Given the description of an element on the screen output the (x, y) to click on. 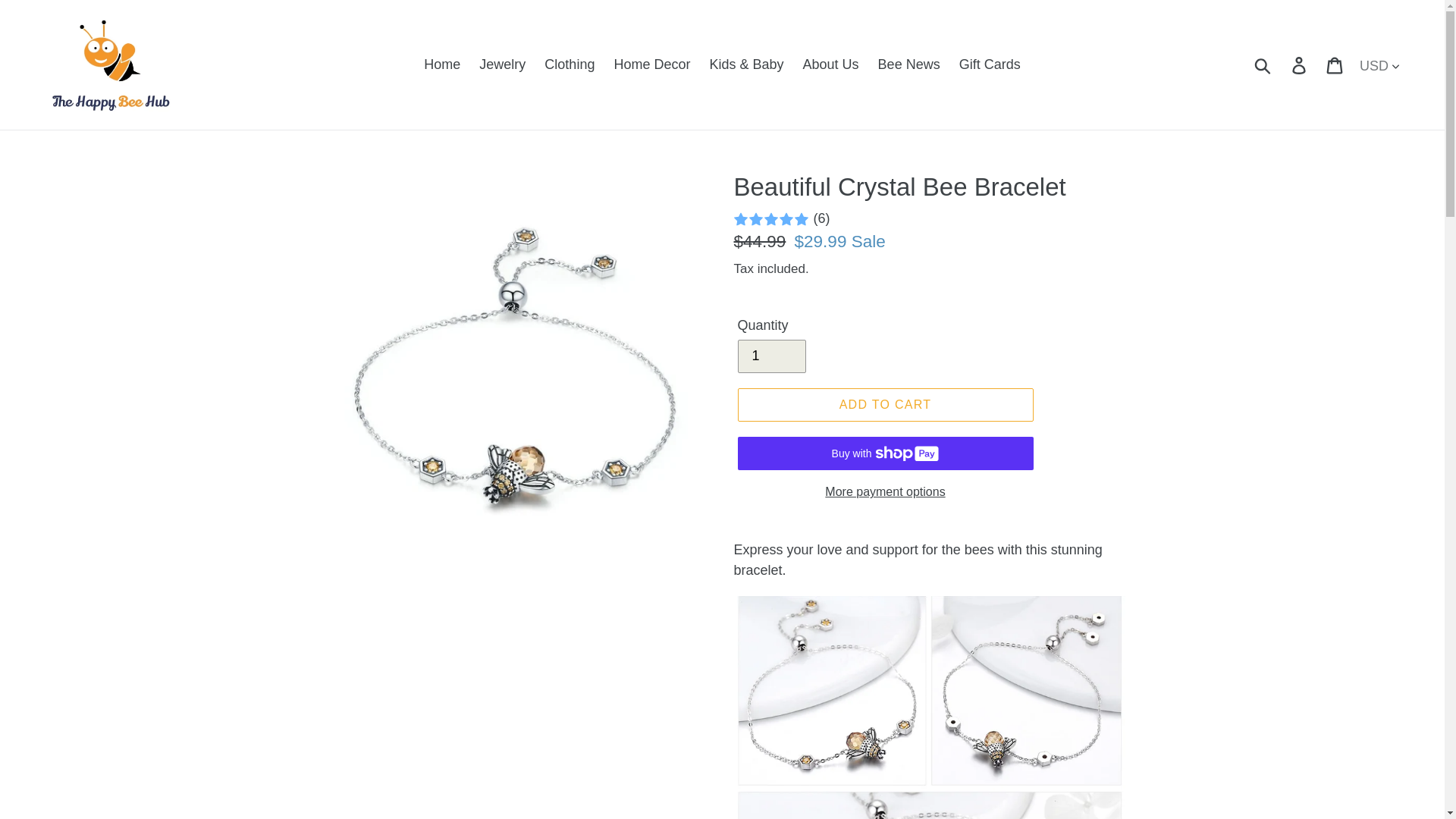
Clothing (569, 64)
ADD TO CART (884, 404)
Bee News (908, 64)
Home Decor (651, 64)
More payment options (884, 492)
About Us (830, 64)
Submit (1263, 64)
Home (441, 64)
1 (770, 356)
Cart (1335, 64)
